Given the description of an element on the screen output the (x, y) to click on. 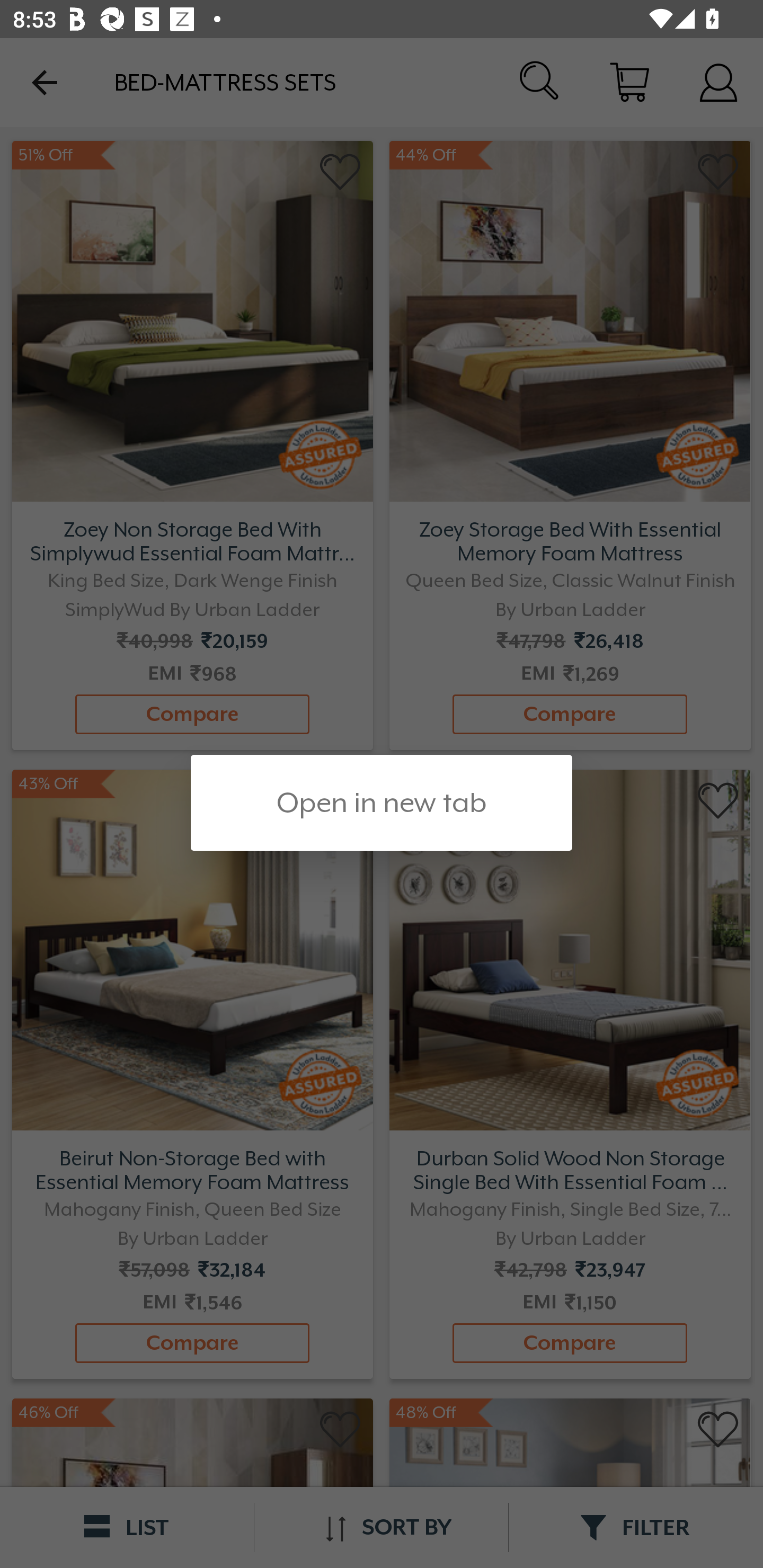
Open in new tab (381, 802)
